Given the description of an element on the screen output the (x, y) to click on. 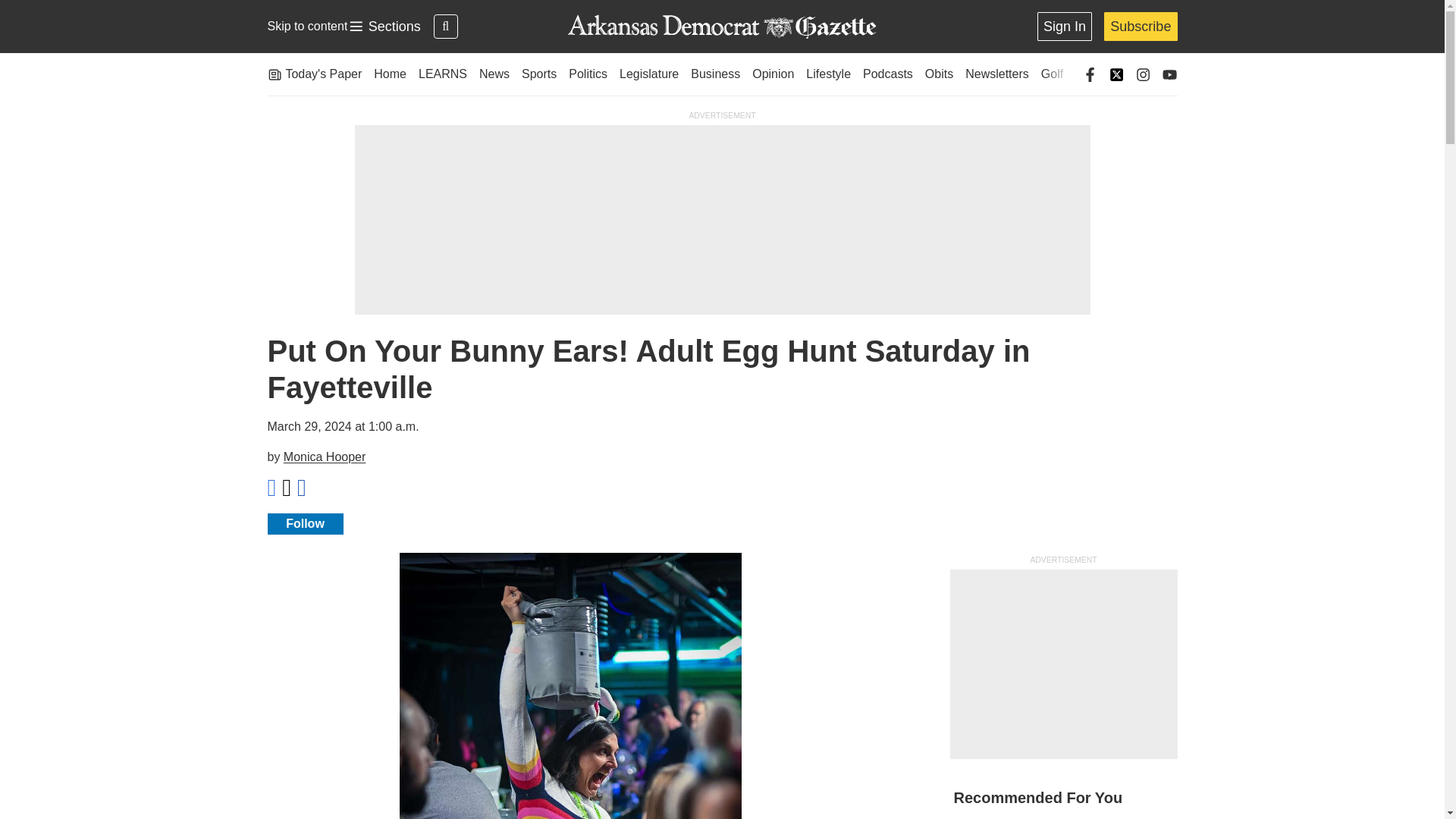
Skip to content (306, 26)
3rd party ad content (1062, 664)
Arkansas Democrat Gazette (383, 26)
